Given the description of an element on the screen output the (x, y) to click on. 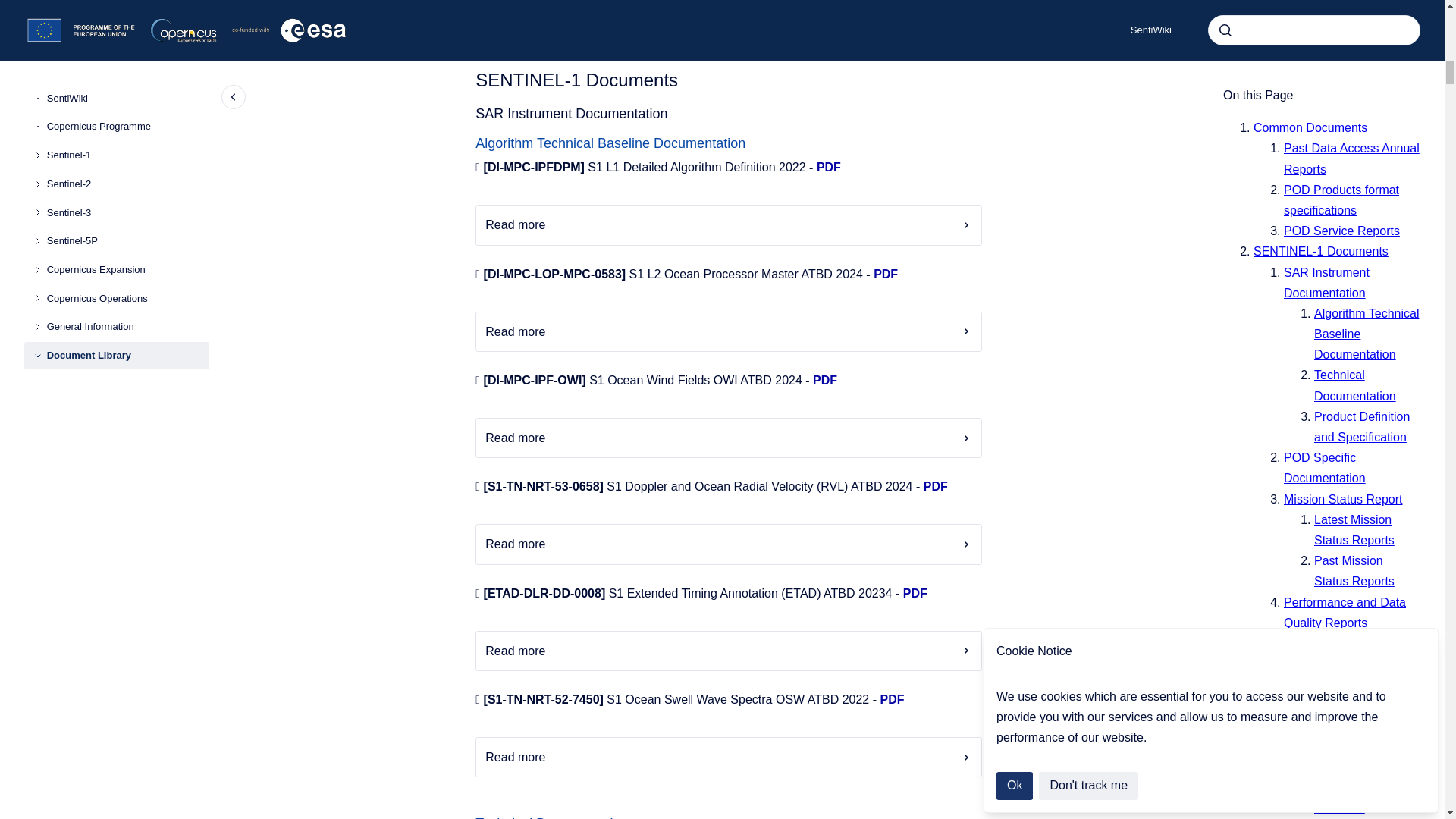
Copy to clipboard (468, 816)
